Given the description of an element on the screen output the (x, y) to click on. 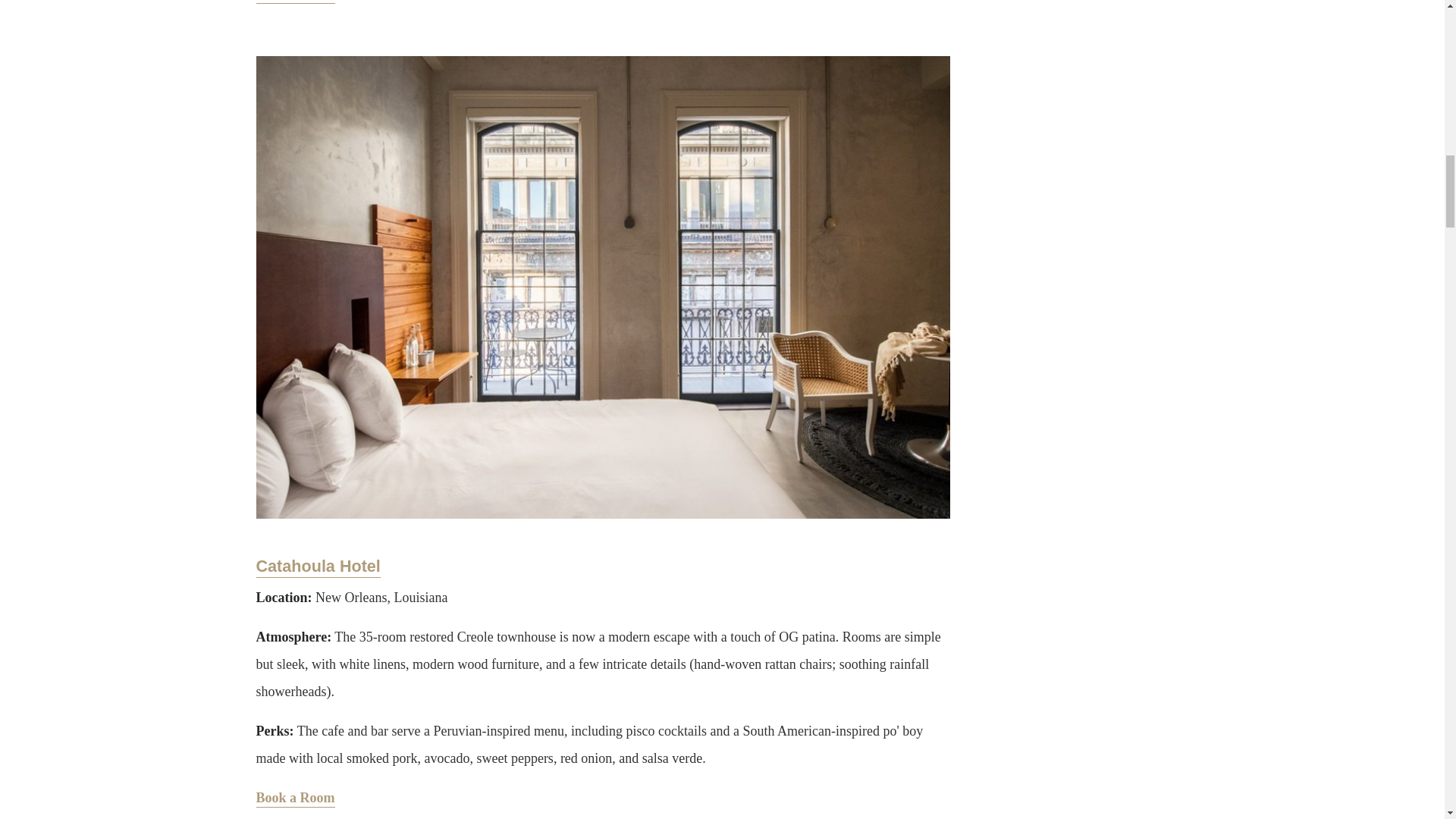
Book Henry Howard Hotel (295, 2)
Book a Room (295, 2)
Catahoula Hotel (318, 567)
Catahoula Hotel (318, 567)
Book a Room (295, 798)
Book Catahoula Hotel (295, 798)
